Given the description of an element on the screen output the (x, y) to click on. 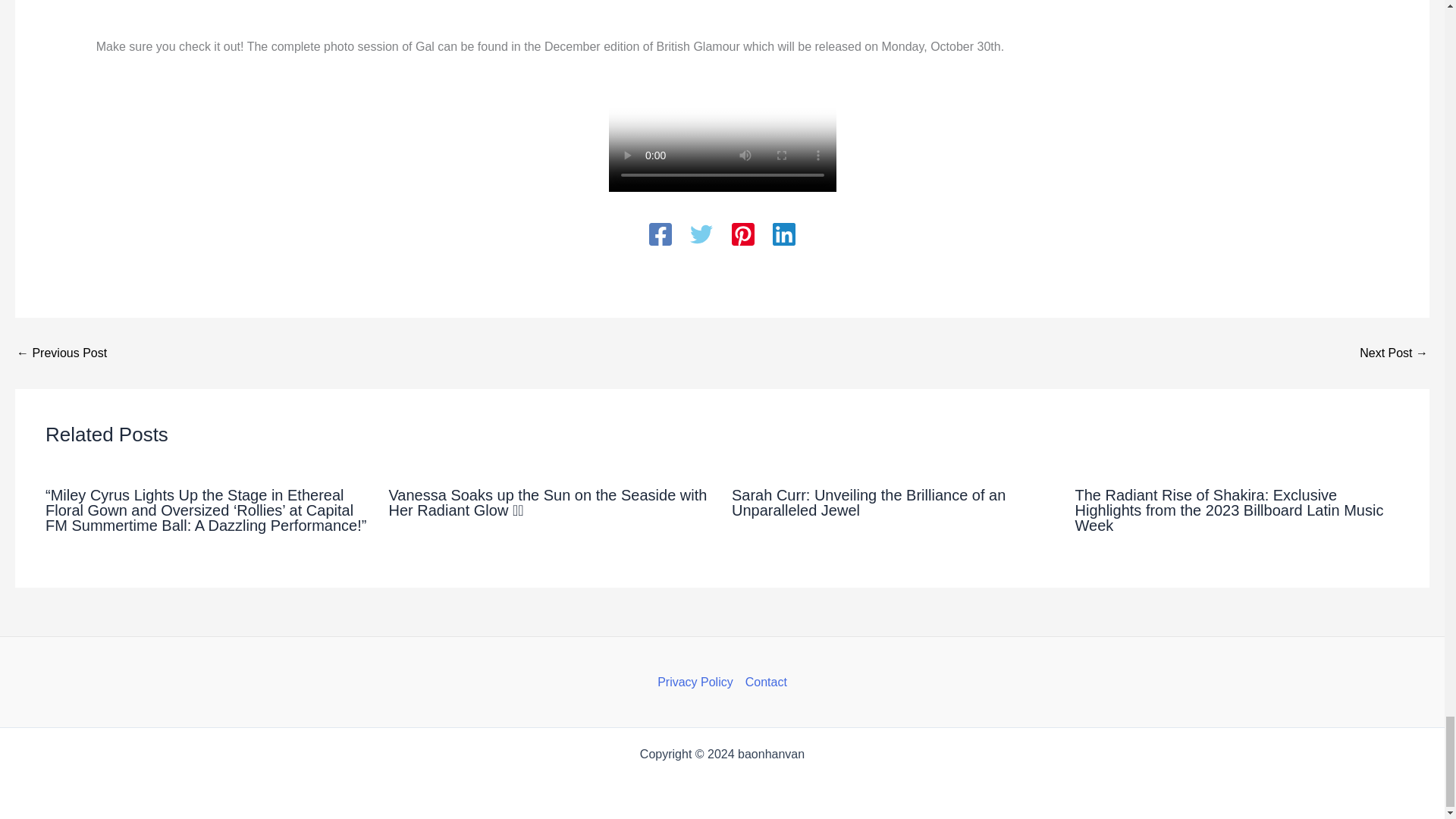
Privacy Policy (698, 681)
Contact (763, 681)
